Given the description of an element on the screen output the (x, y) to click on. 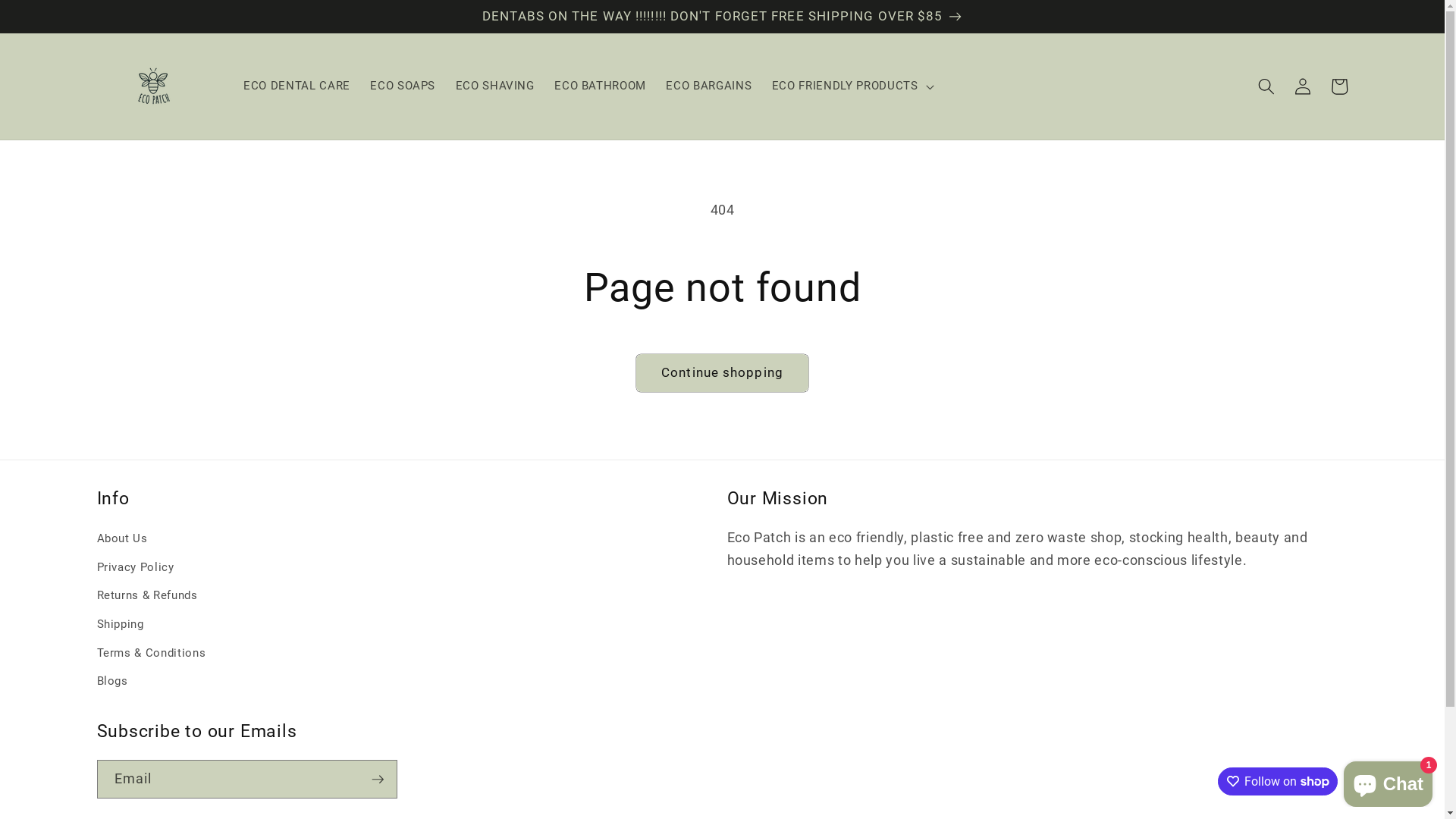
Cart Element type: text (1339, 86)
Privacy Policy Element type: text (135, 566)
ECO SOAPS Element type: text (402, 86)
About Us Element type: text (122, 540)
Log in Element type: text (1302, 86)
ECO DENTAL CARE Element type: text (296, 86)
Shopify online store chat Element type: hover (1388, 780)
Shipping Element type: text (120, 623)
Continue shopping Element type: text (722, 373)
ECO BATHROOM Element type: text (599, 86)
ECO SHAVING Element type: text (494, 86)
ECO BARGAINS Element type: text (708, 86)
Blogs Element type: text (112, 681)
Returns & Refunds Element type: text (147, 595)
Terms & Conditions Element type: text (151, 652)
